Given the description of an element on the screen output the (x, y) to click on. 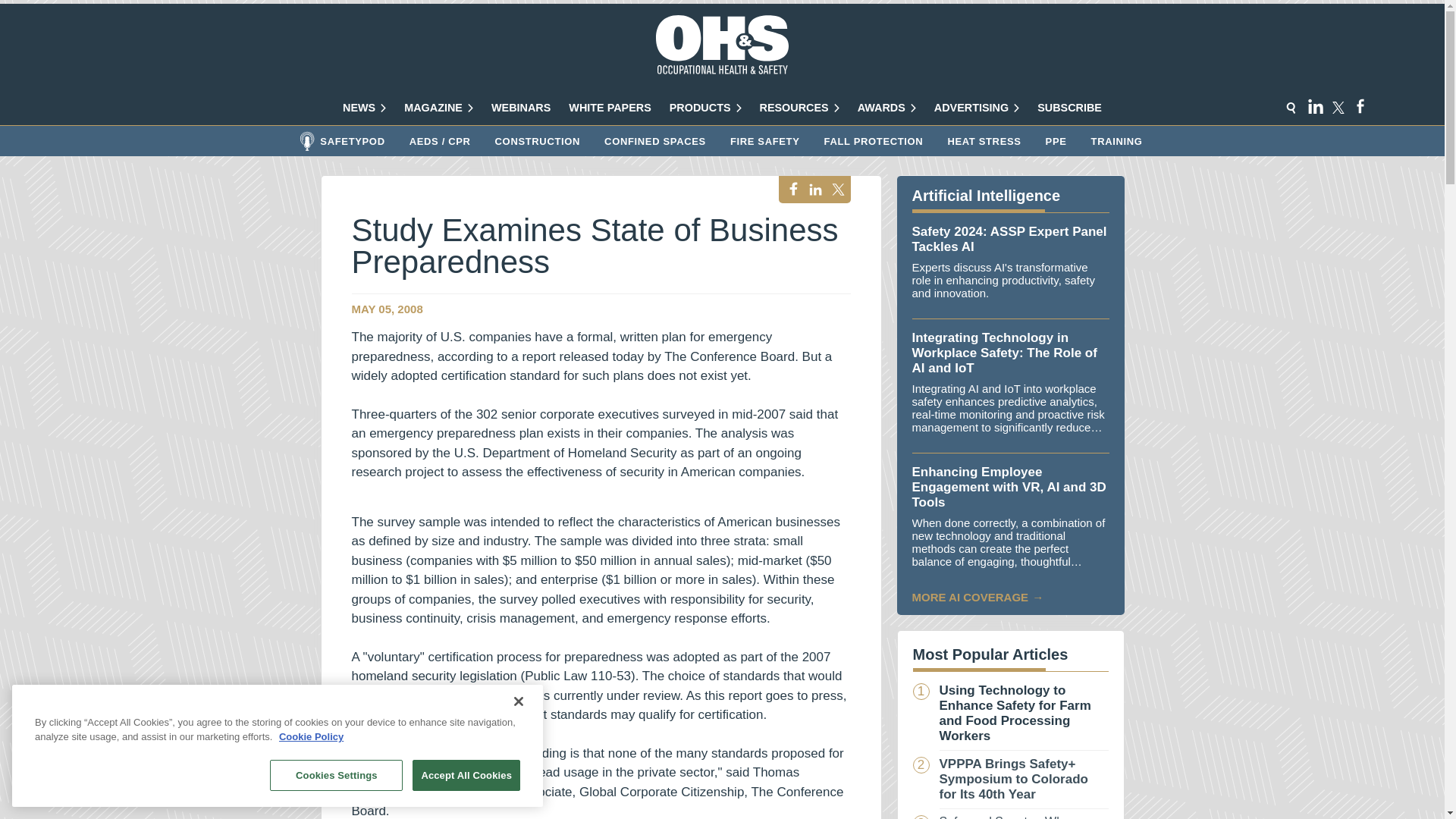
PRODUCTS (705, 108)
NEWS (363, 108)
WEBINARS (521, 108)
RESOURCES (800, 108)
WHITE PAPERS (609, 108)
MAGAZINE (438, 108)
AWARDS (886, 108)
